Given the description of an element on the screen output the (x, y) to click on. 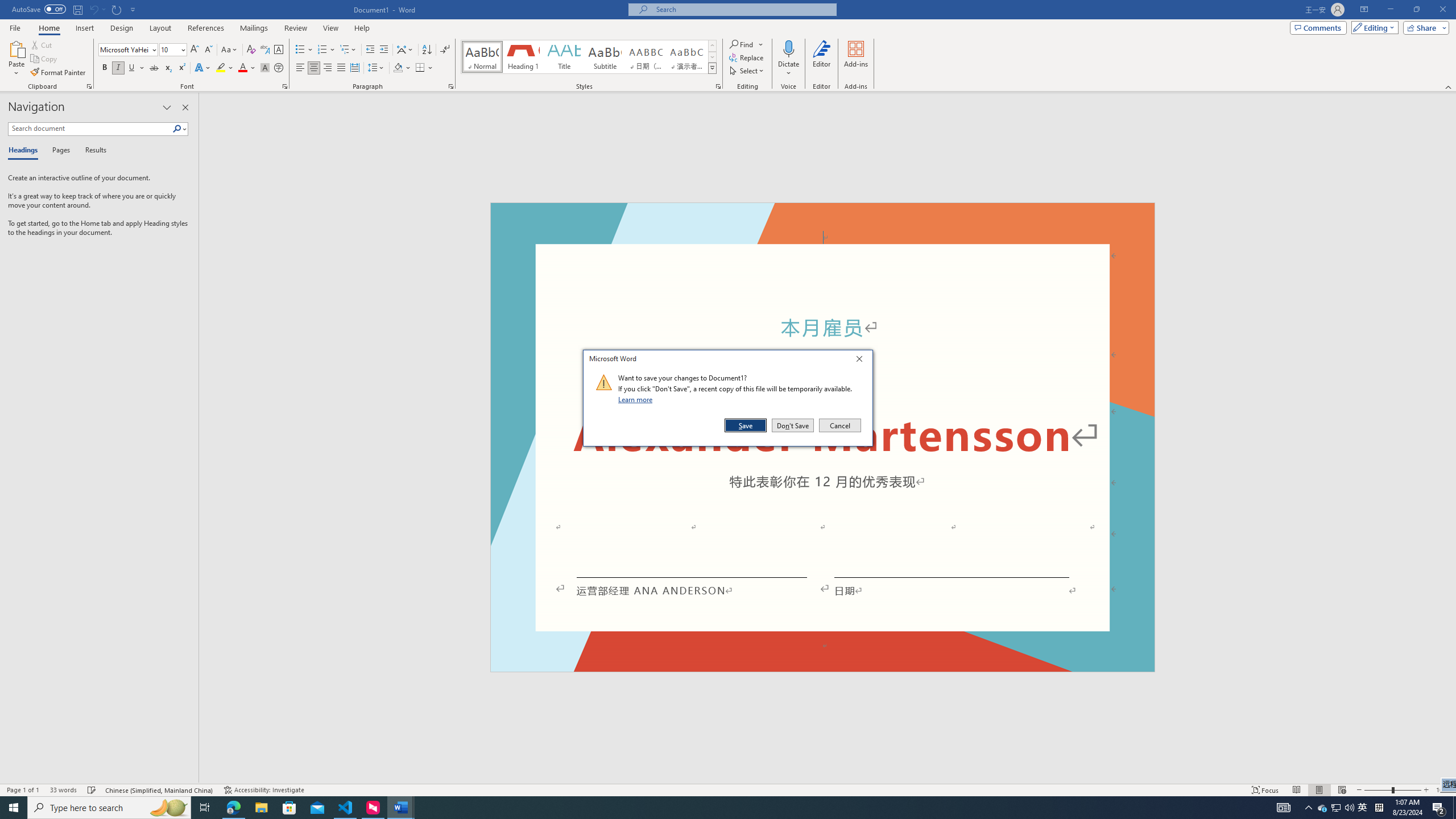
Cancel (839, 425)
Tray Input Indicator - Chinese (Simplified, China) (1378, 807)
AutomationID: 4105 (1283, 807)
Action Center, 2 new notifications (1439, 807)
